Given the description of an element on the screen output the (x, y) to click on. 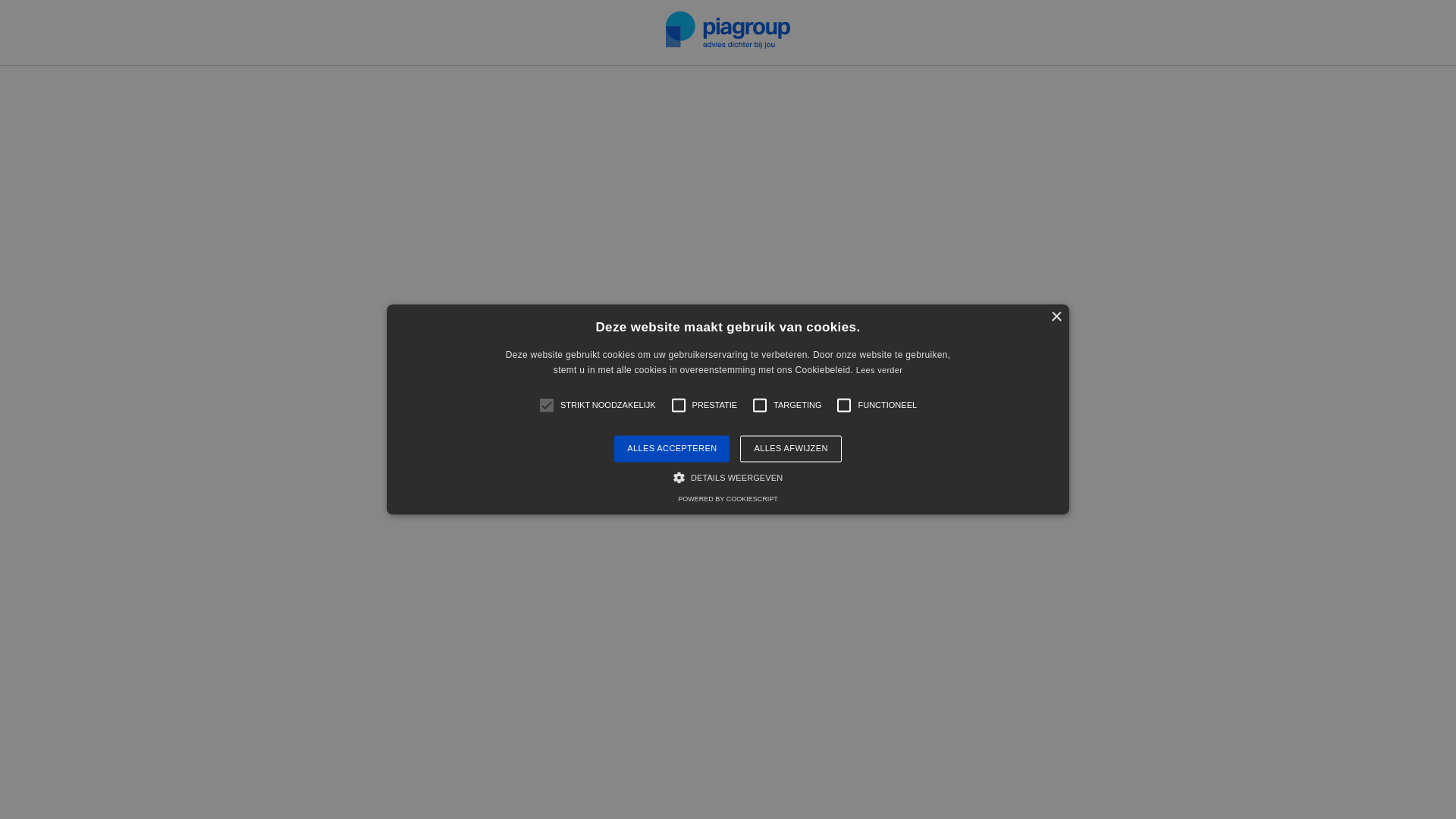
Terug naar de homepage Element type: text (727, 496)
POWERED BY COOKIESCRIPT Element type: text (727, 499)
Lees verder Element type: text (879, 370)
